Given the description of an element on the screen output the (x, y) to click on. 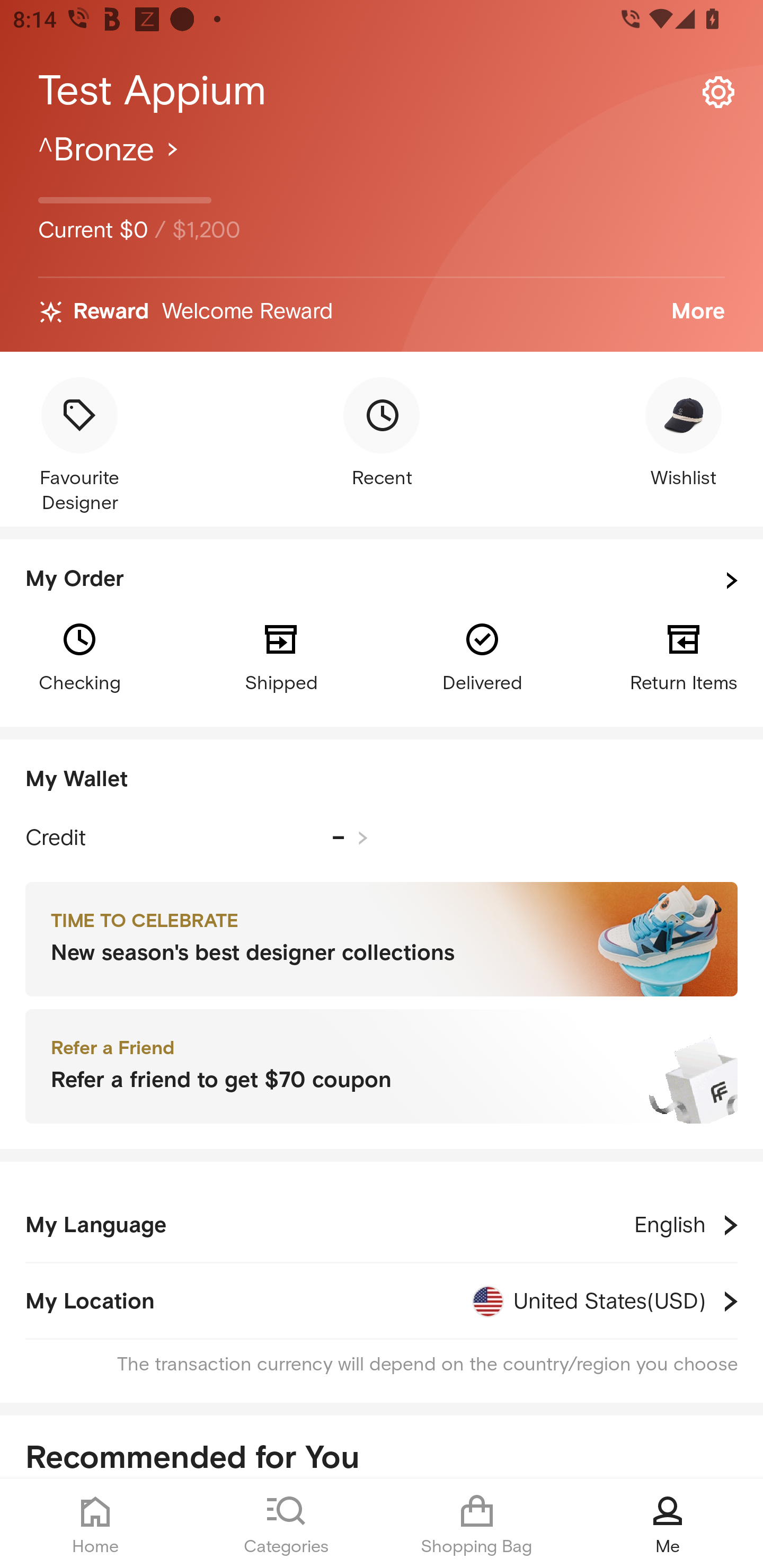
Test Appium (381, 91)
Current $0 / $1,200 Reward Welcome Reward More (381, 240)
Reward Welcome Reward More (381, 311)
Favourite Designer (79, 446)
Recent (381, 433)
Wishlist (683, 433)
My Order (381, 580)
Checking (79, 656)
Shipped (280, 656)
Delivered (482, 656)
Return Items (683, 656)
My Wallet (381, 779)
Credit - (196, 837)
Refer a Friend Refer a friend to get $70 coupon (381, 1066)
My Language English (381, 1224)
My Location United States(USD) (381, 1301)
Home (95, 1523)
Categories (285, 1523)
Shopping Bag (476, 1523)
